Given the description of an element on the screen output the (x, y) to click on. 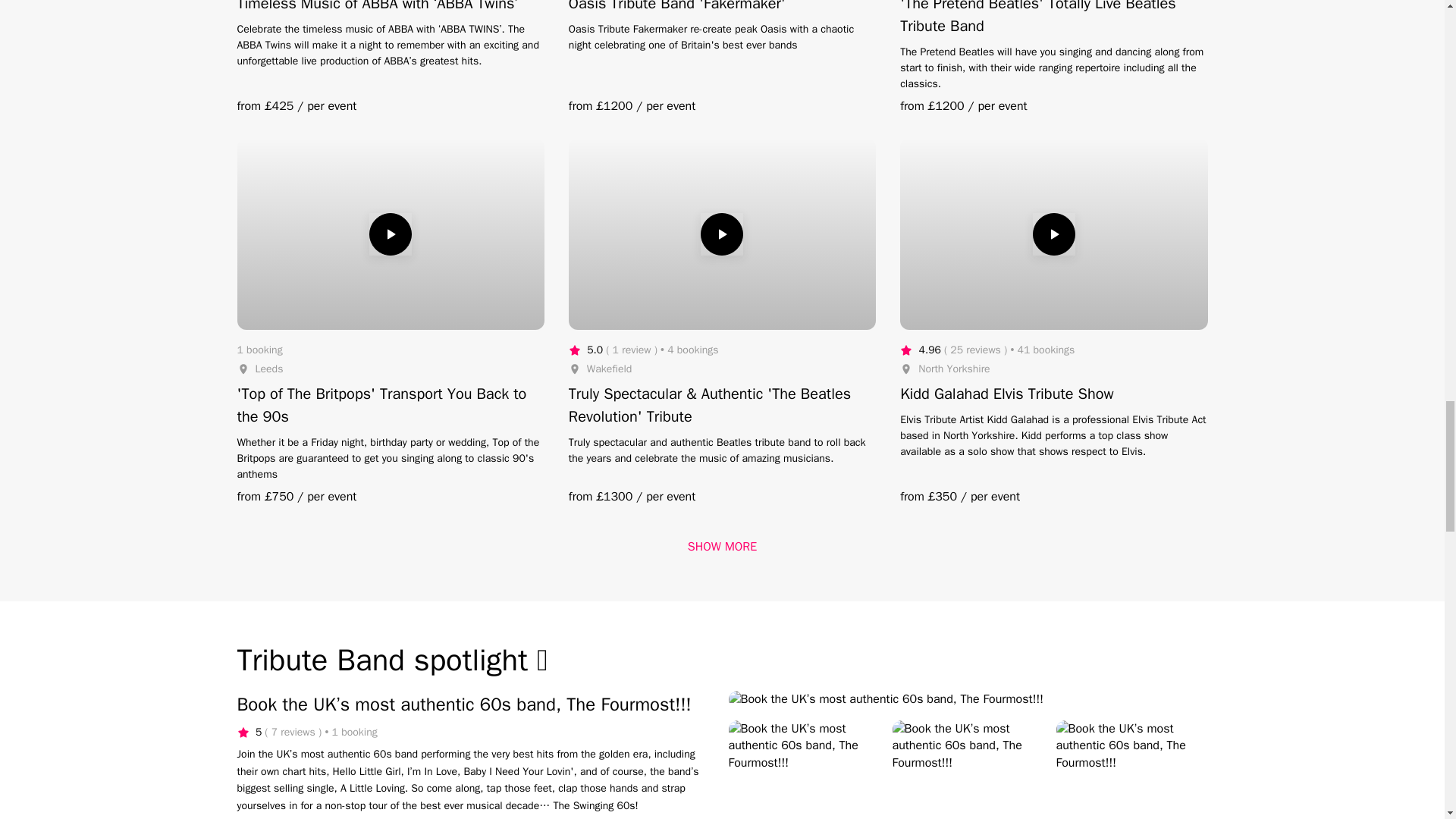
SHOW MORE (721, 546)
